Given the description of an element on the screen output the (x, y) to click on. 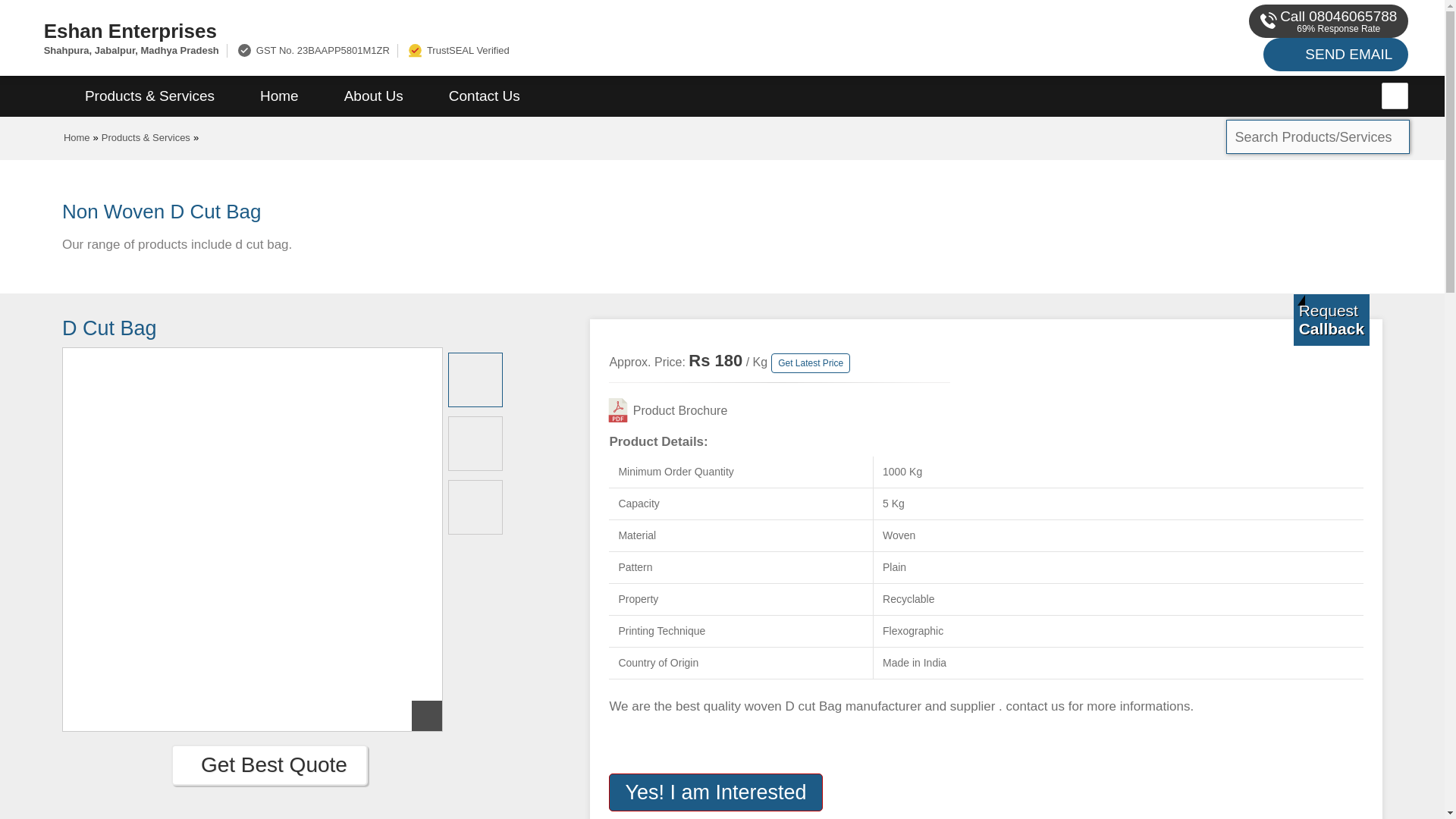
Home (77, 137)
Home (279, 96)
About Us (373, 96)
Eshan Enterprises (480, 31)
Contact Us (484, 96)
Get a Call from us (1332, 319)
